Given the description of an element on the screen output the (x, y) to click on. 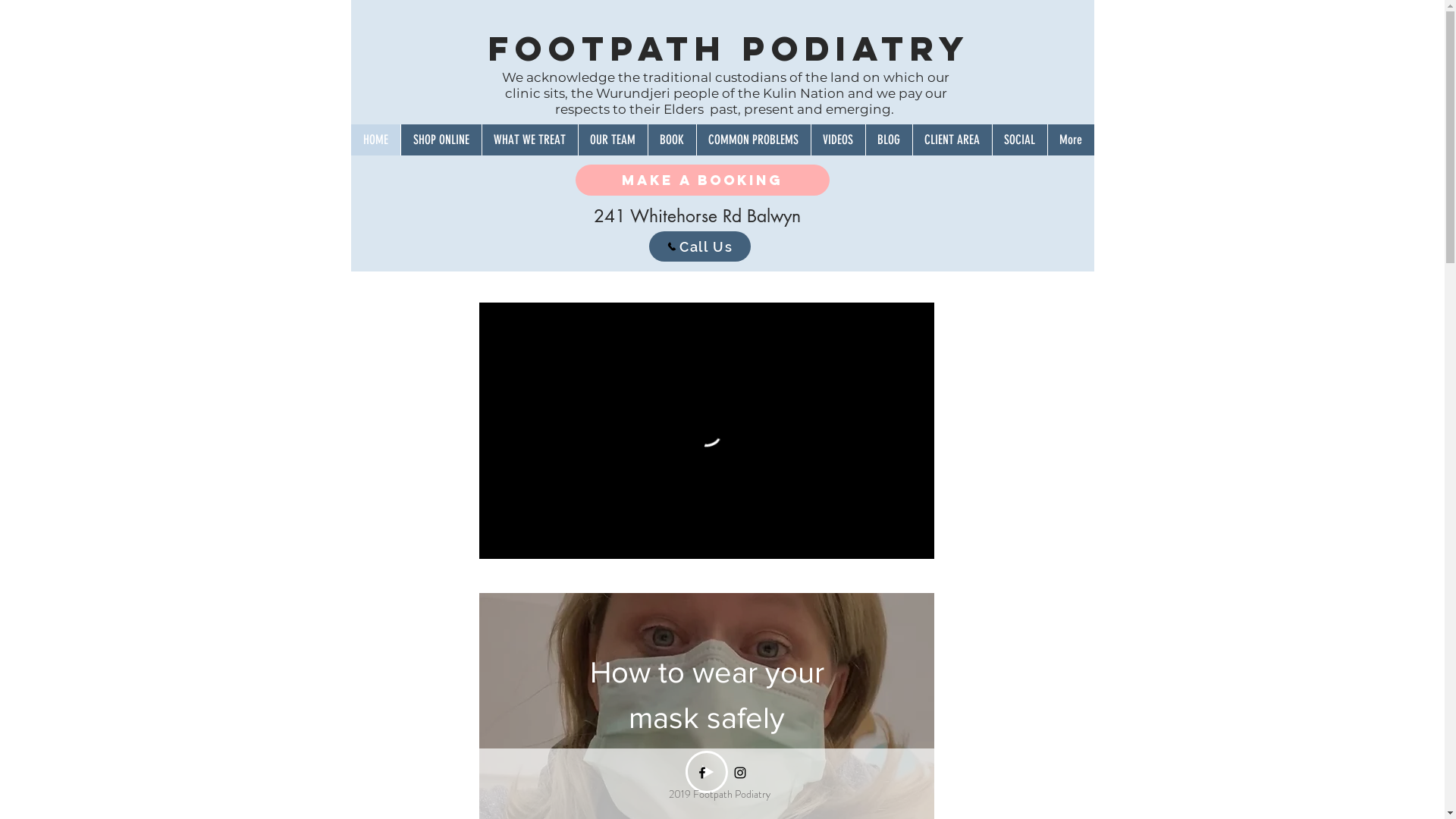
VIDEOS Element type: text (836, 139)
HOME Element type: text (374, 139)
WHAT WE TREAT Element type: text (528, 139)
SOCIAL Element type: text (1019, 139)
COMMON PROBLEMS Element type: text (753, 139)
BLOG Element type: text (887, 139)
CLIENT AREA Element type: text (951, 139)
OUR TEAM Element type: text (612, 139)
FOOTPATH PODIATRY Element type: text (729, 47)
Make a booking Element type: text (701, 179)
BOOK Element type: text (671, 139)
Call Us Element type: text (699, 246)
SHOP ONLINE Element type: text (440, 139)
